Given the description of an element on the screen output the (x, y) to click on. 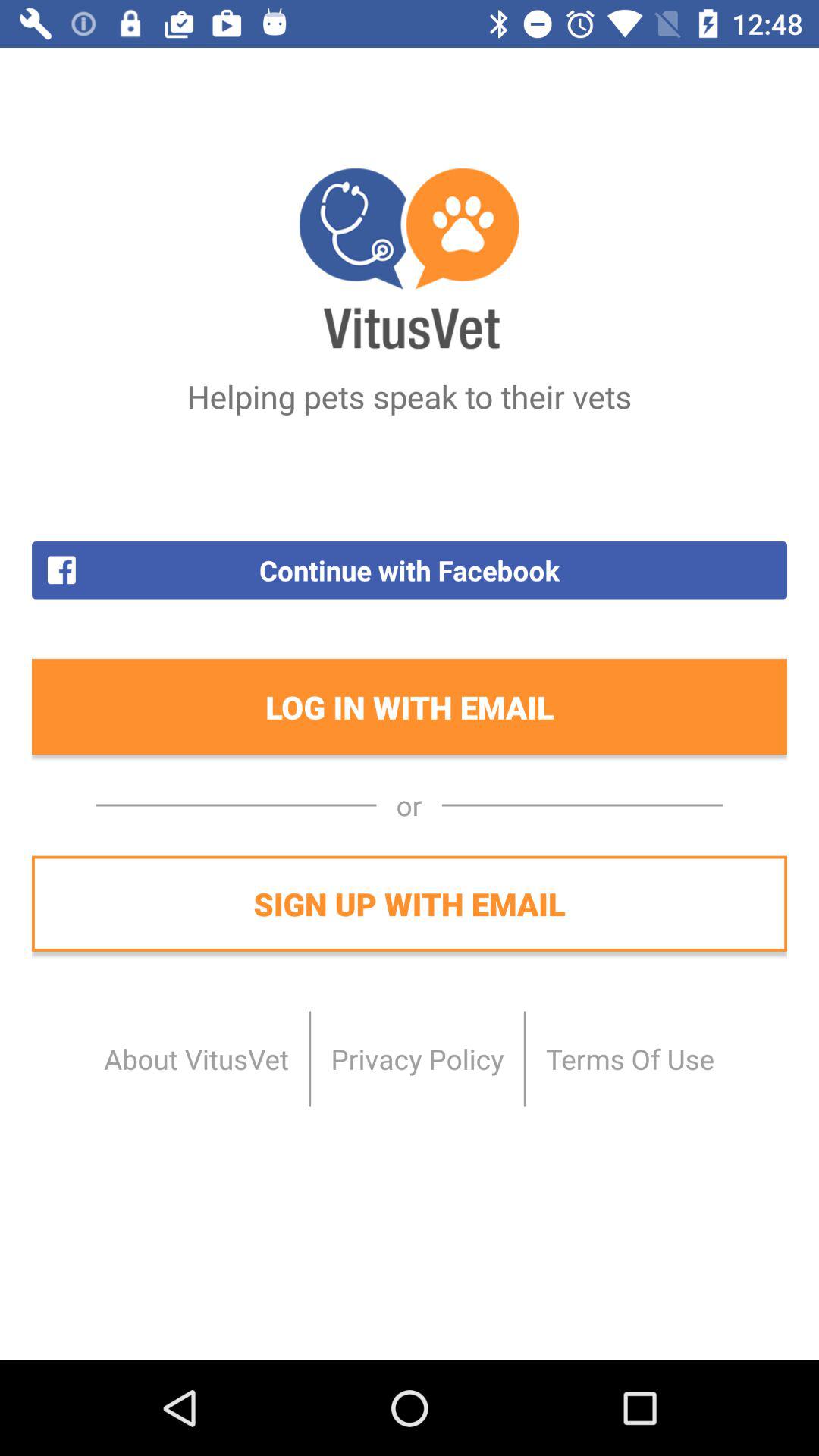
flip to continue with facebook (409, 570)
